Given the description of an element on the screen output the (x, y) to click on. 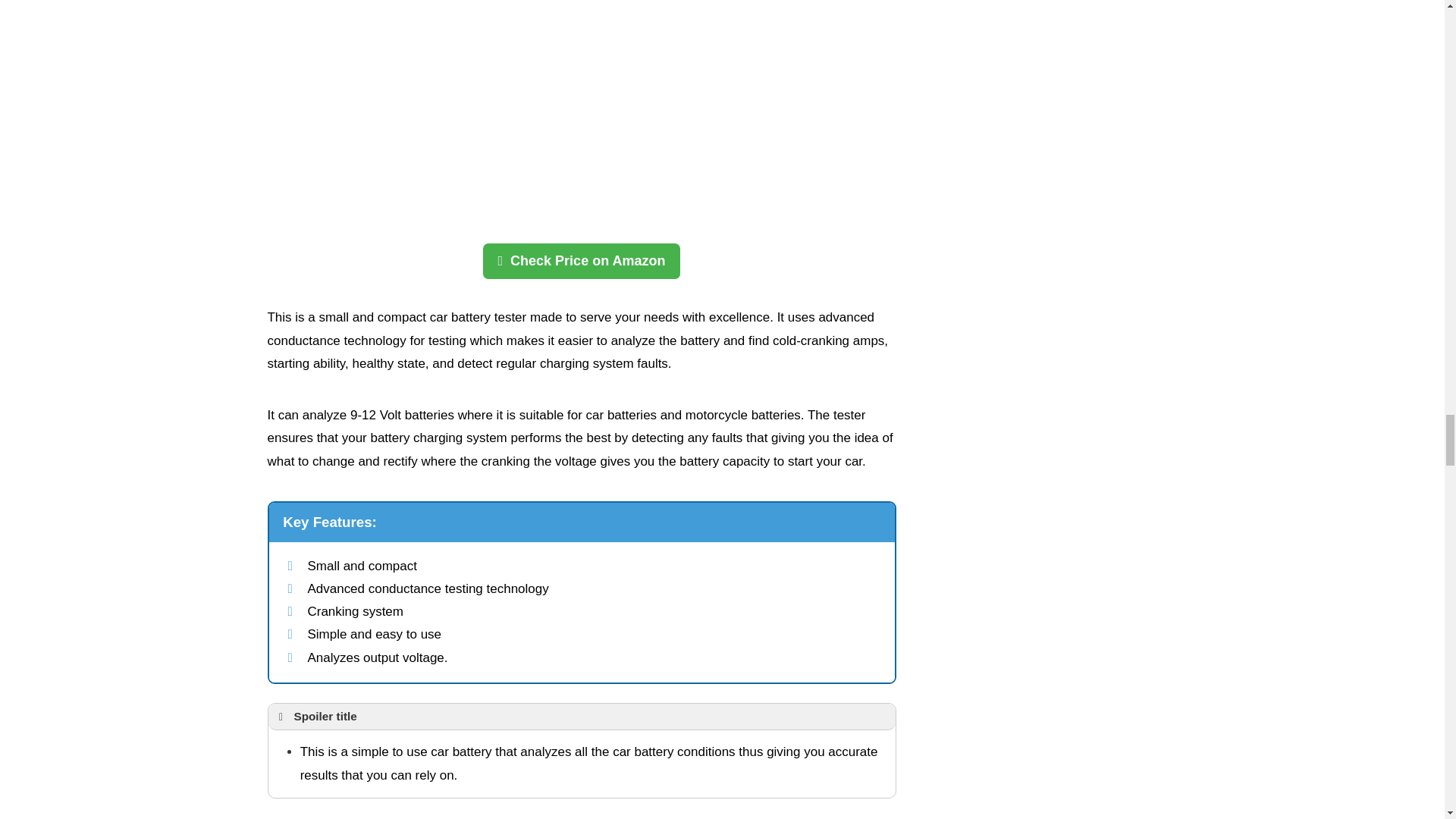
  Check Price on Amazon (581, 260)
